Given the description of an element on the screen output the (x, y) to click on. 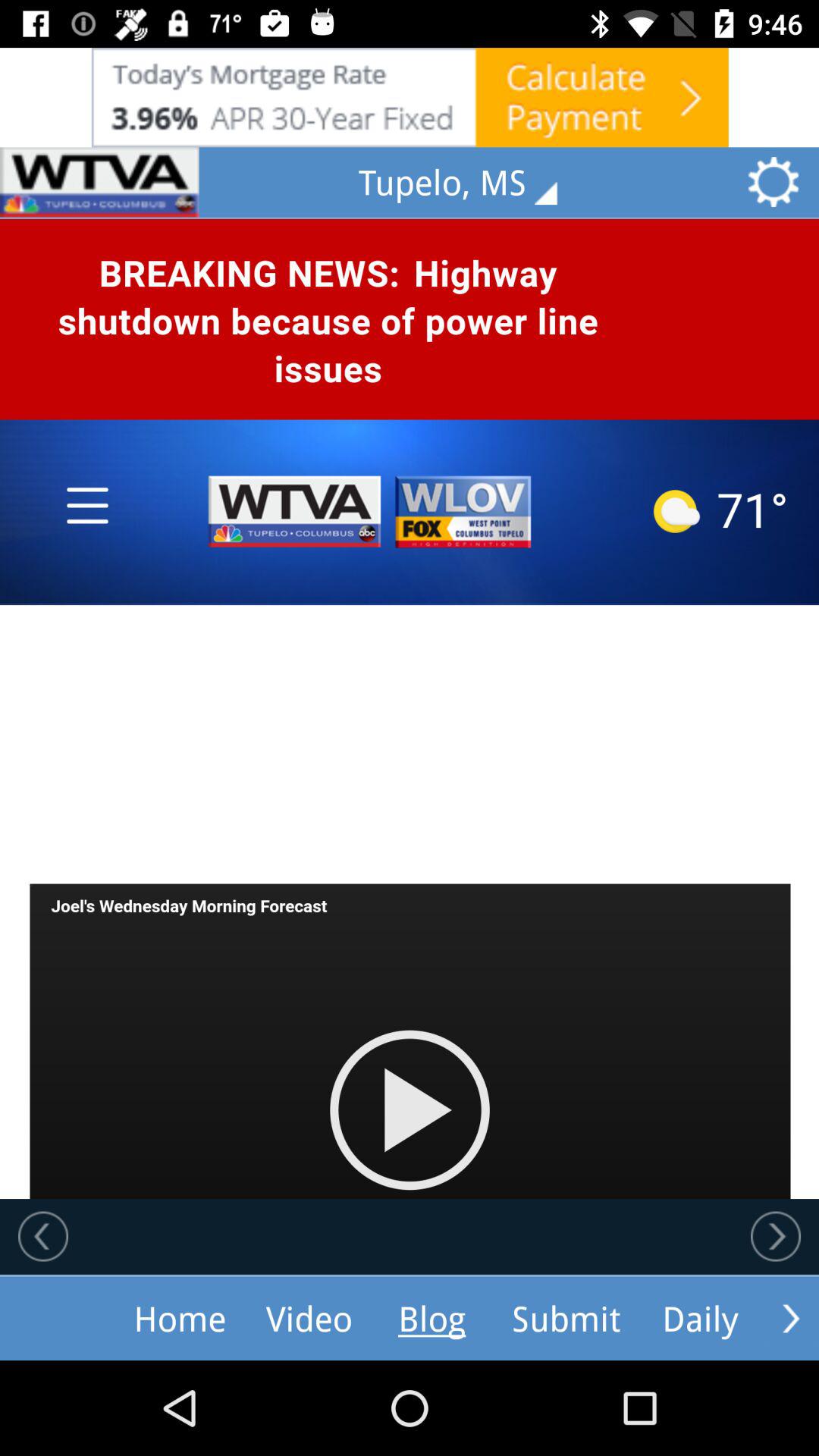
go to next (775, 1236)
